Given the description of an element on the screen output the (x, y) to click on. 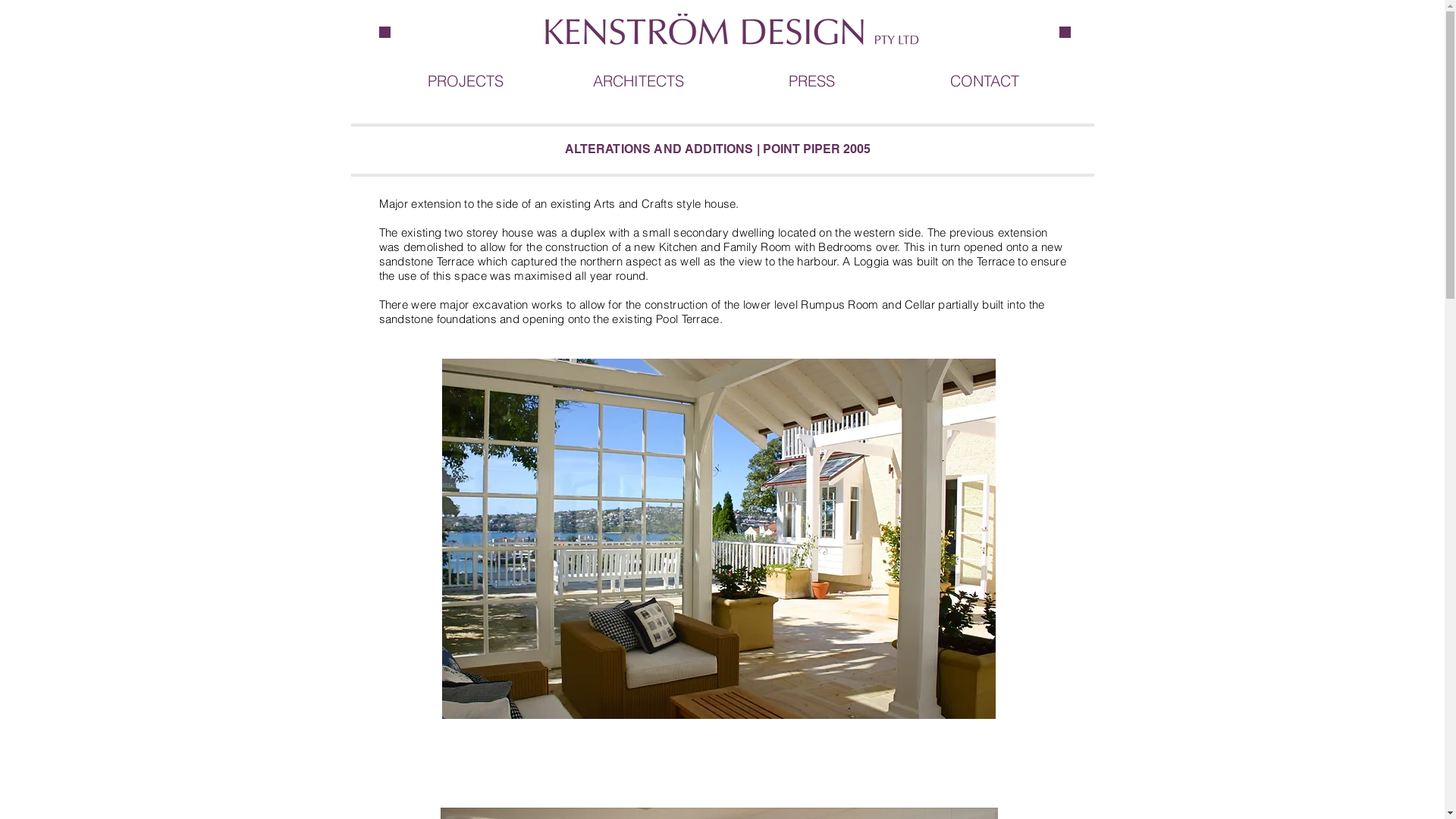
CONTACT Element type: text (983, 80)
PROJECTS Element type: text (465, 80)
ARCHITECTS Element type: text (638, 80)
PRESS Element type: text (810, 80)
